Given the description of an element on the screen output the (x, y) to click on. 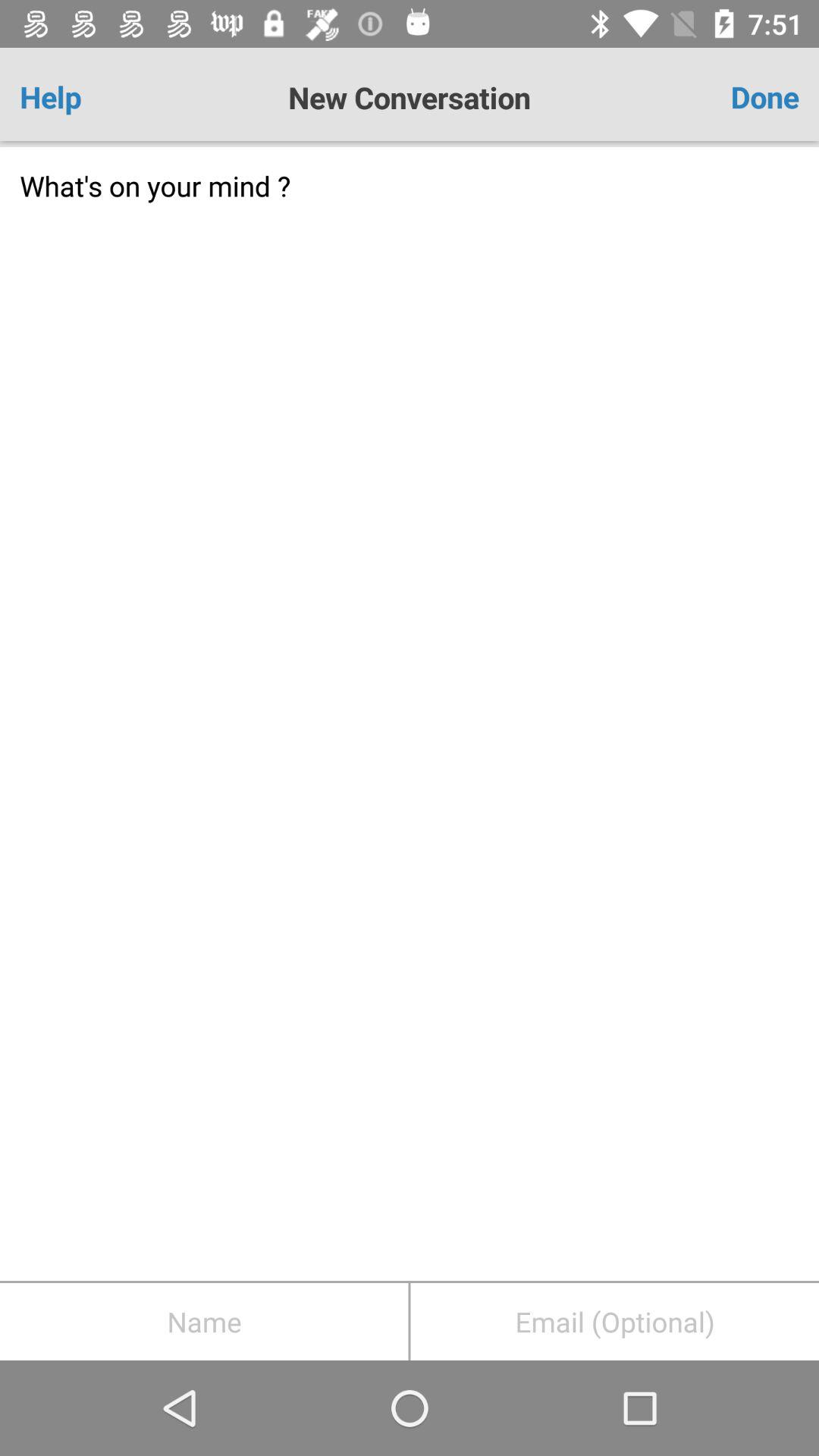
autofill name (204, 1321)
